Given the description of an element on the screen output the (x, y) to click on. 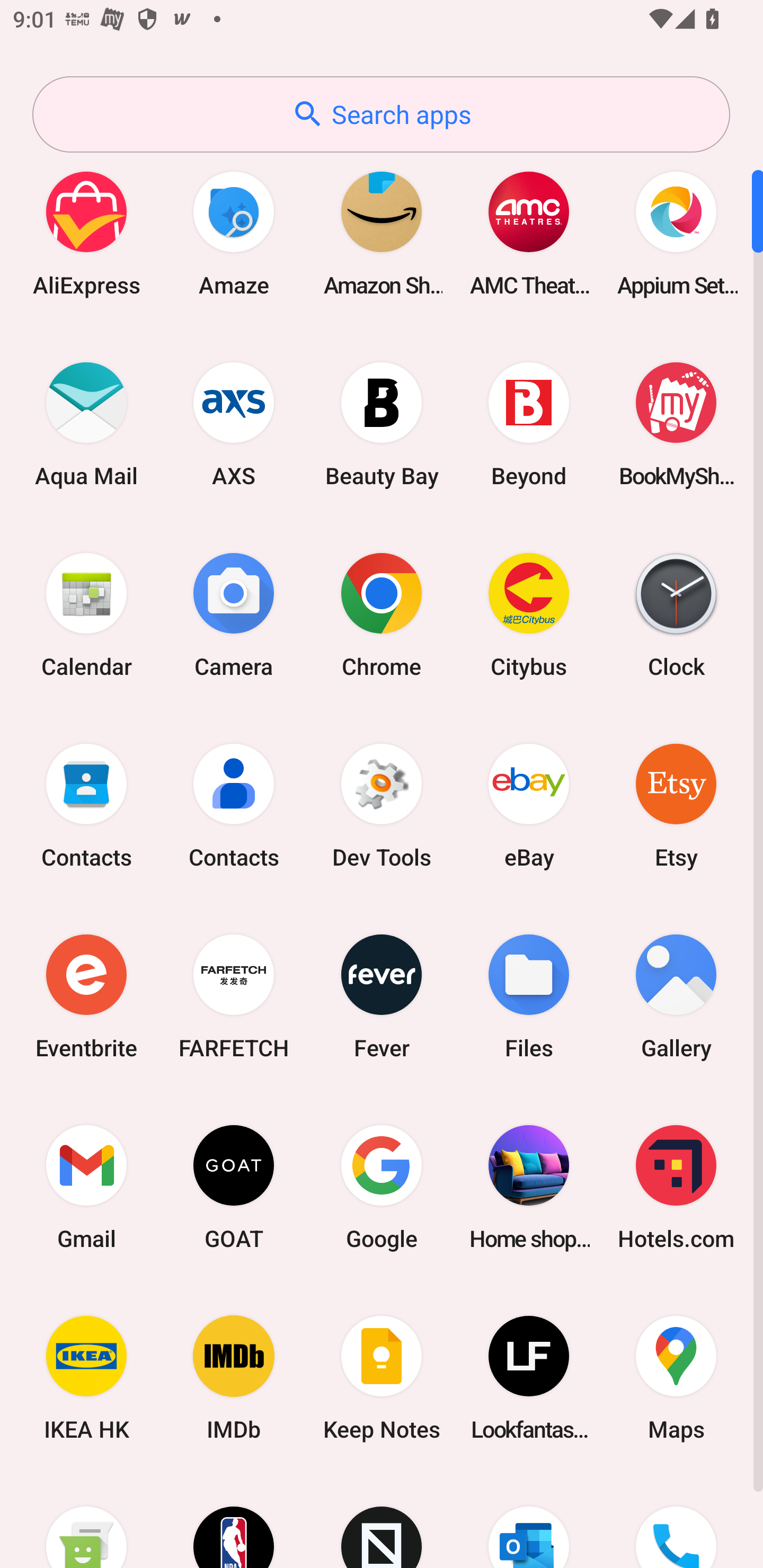
  Search apps (381, 114)
AliExpress (86, 233)
Amaze (233, 233)
Amazon Shopping (381, 233)
AMC Theatres (528, 233)
Appium Settings (676, 233)
Aqua Mail (86, 424)
AXS (233, 424)
Beauty Bay (381, 424)
Beyond (528, 424)
BookMyShow (676, 424)
Calendar (86, 614)
Camera (233, 614)
Chrome (381, 614)
Citybus (528, 614)
Clock (676, 614)
Contacts (86, 805)
Contacts (233, 805)
Dev Tools (381, 805)
eBay (528, 805)
Etsy (676, 805)
Eventbrite (86, 996)
FARFETCH (233, 996)
Fever (381, 996)
Files (528, 996)
Gallery (676, 996)
Gmail (86, 1186)
GOAT (233, 1186)
Google (381, 1186)
Home shopping (528, 1186)
Hotels.com (676, 1186)
IKEA HK (86, 1377)
IMDb (233, 1377)
Keep Notes (381, 1377)
Lookfantastic (528, 1377)
Maps (676, 1377)
